Given the description of an element on the screen output the (x, y) to click on. 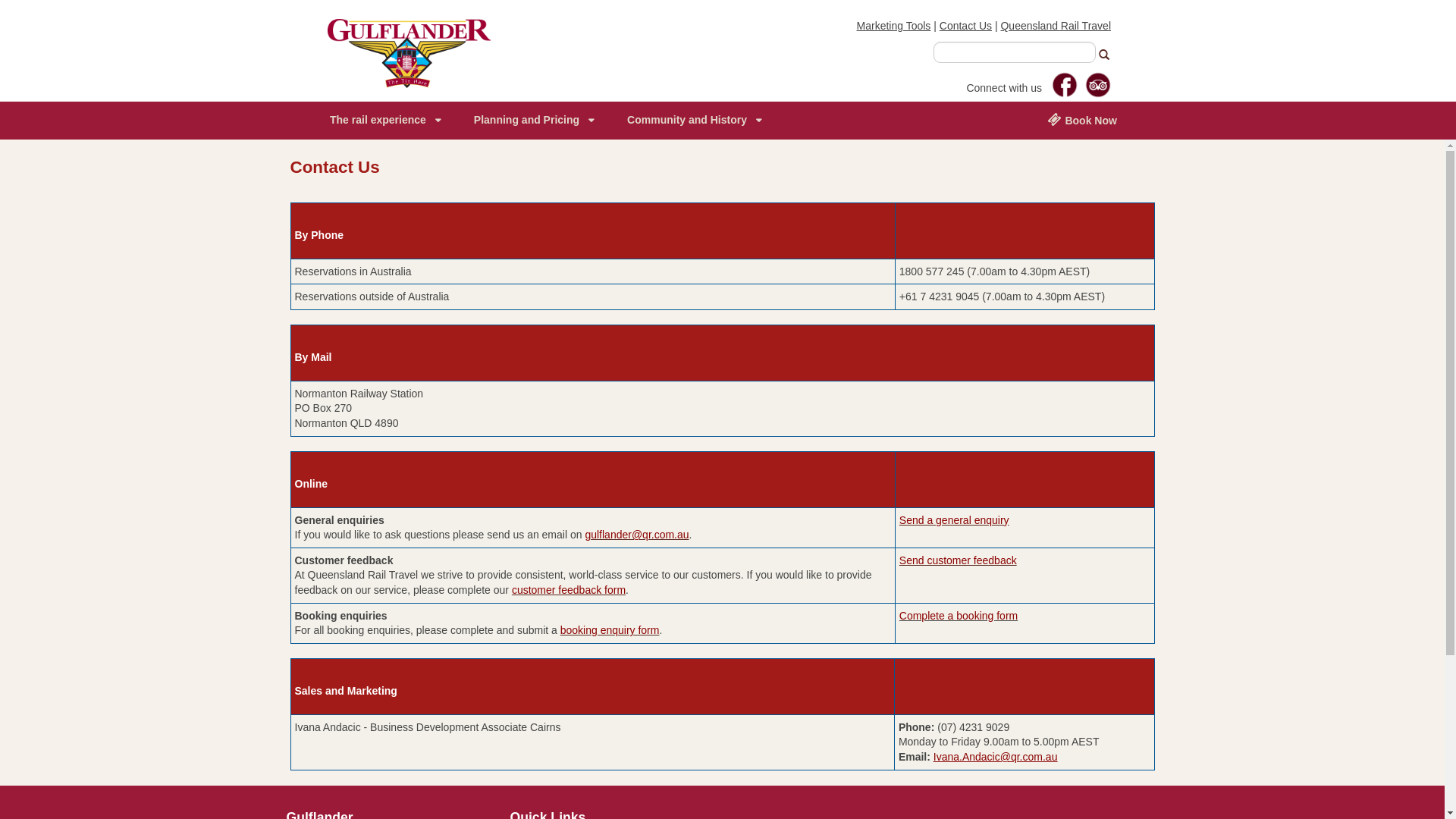
Contact Us Element type: text (965, 25)
customer feedback form Element type: text (568, 589)
Community and History Element type: text (693, 120)
Planning and Pricing Element type: text (533, 120)
booking enquiry form Element type: text (609, 630)
Marketing Tools Element type: text (893, 25)
gulflander@qr.com.au Element type: text (636, 534)
The rail experience Element type: text (385, 120)
Book Now Element type: text (1081, 120)
Connect with us on Facebook Element type: hover (1064, 84)
Send a general enquiry Element type: text (954, 520)
Search... Element type: hover (1014, 51)
Home Element type: hover (408, 52)
Queensland Rail Travel Element type: text (1055, 25)
Connect with us on Trip Advisor Element type: hover (1097, 84)
Complete a booking form Element type: text (958, 615)
Ivana.Andacic@qr.com.au Element type: text (995, 756)
Search Element type: hover (1106, 54)
Send customer feedback Element type: text (957, 560)
